Given the description of an element on the screen output the (x, y) to click on. 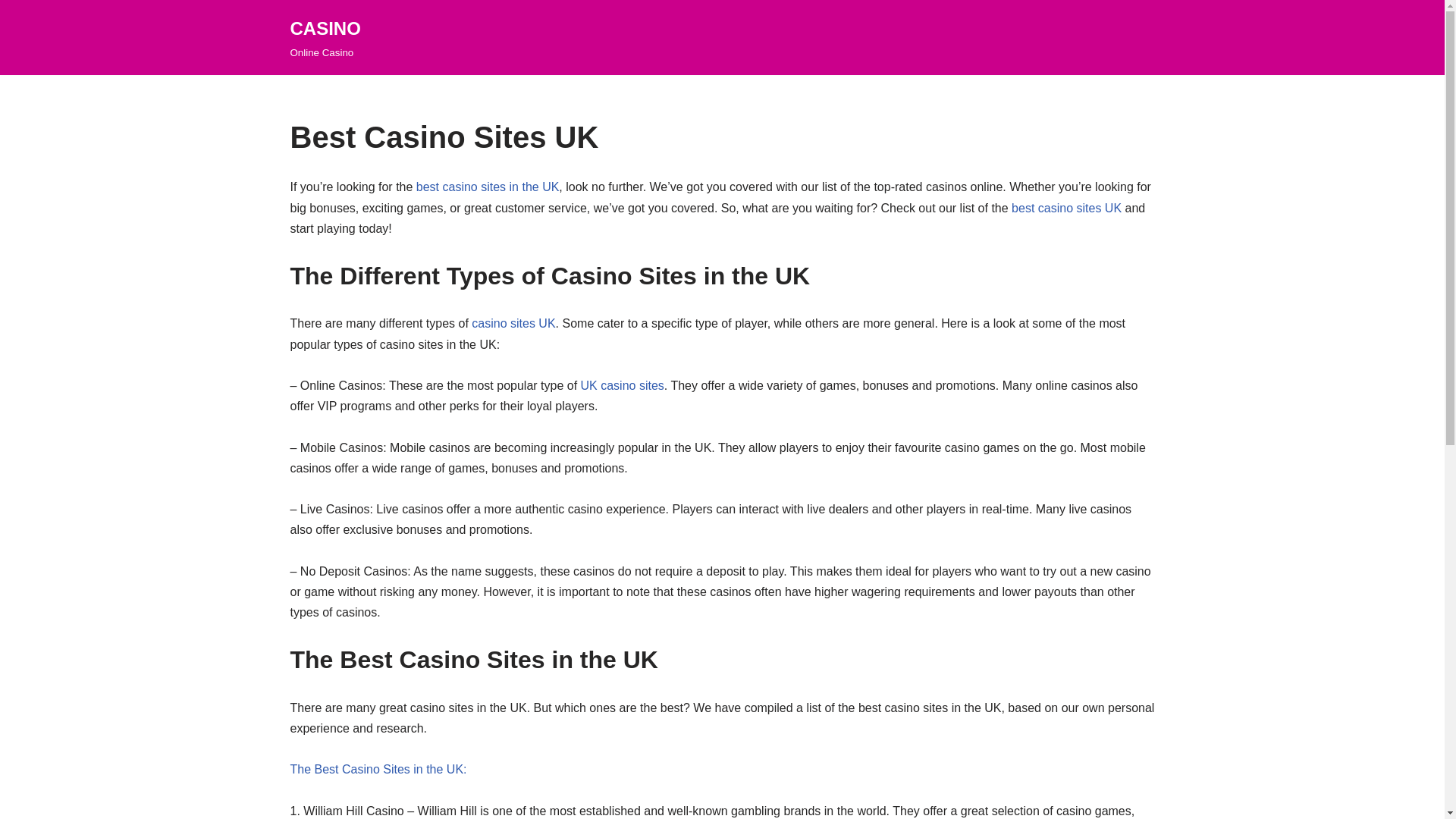
casino sites UK Element type: text (513, 322)
UK casino sites Element type: text (622, 385)
Skip to content Element type: text (11, 31)
best casino sites UK Element type: text (1066, 207)
best casino sites in the UK Element type: text (487, 186)
The Best Casino Sites in the UK: Element type: text (377, 768)
CASINO
Online Casino Element type: text (324, 37)
